Given the description of an element on the screen output the (x, y) to click on. 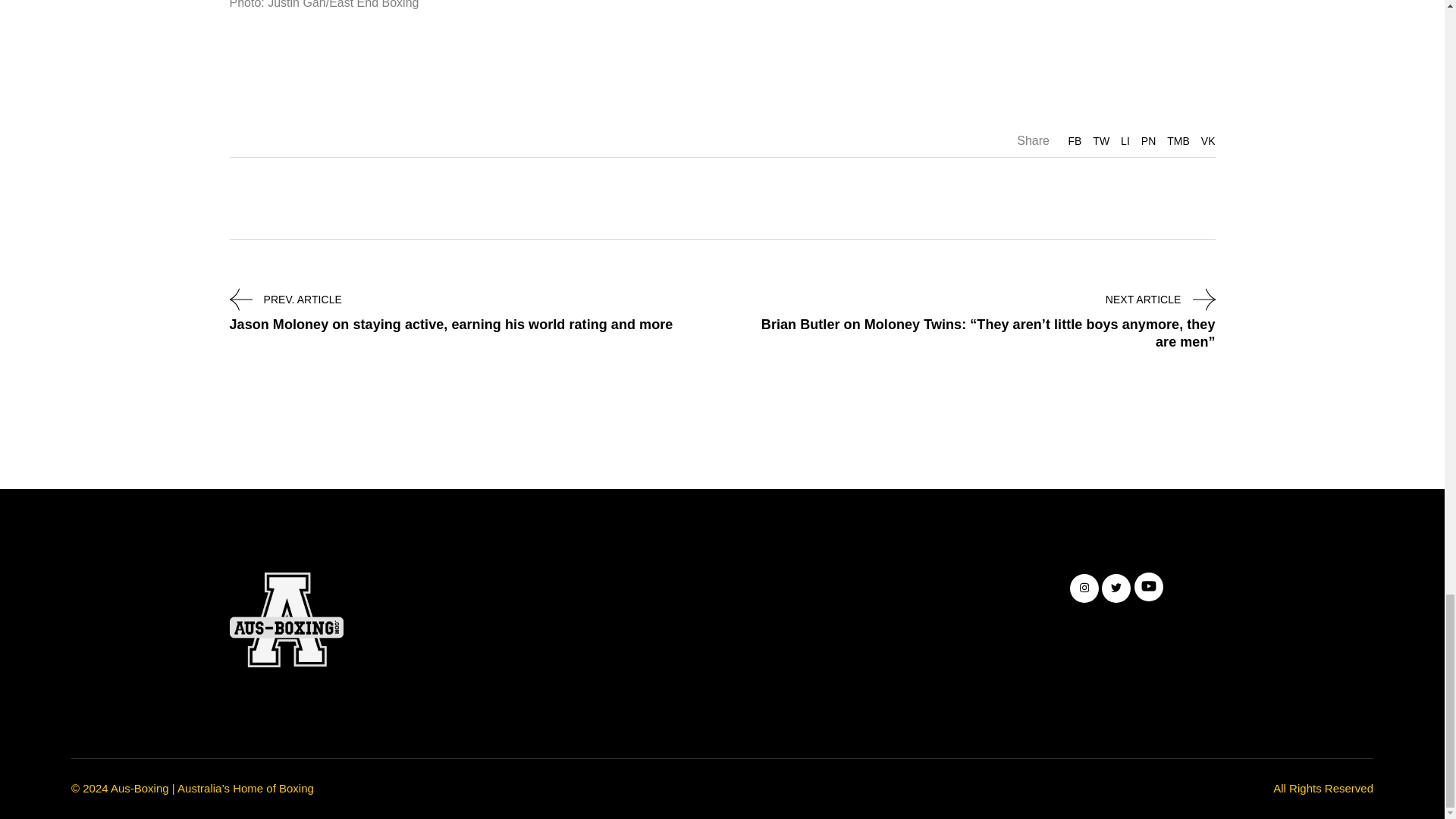
VK (1208, 141)
PN (1148, 141)
TMB (1178, 141)
FB (1074, 141)
TW (1101, 141)
